Given the description of an element on the screen output the (x, y) to click on. 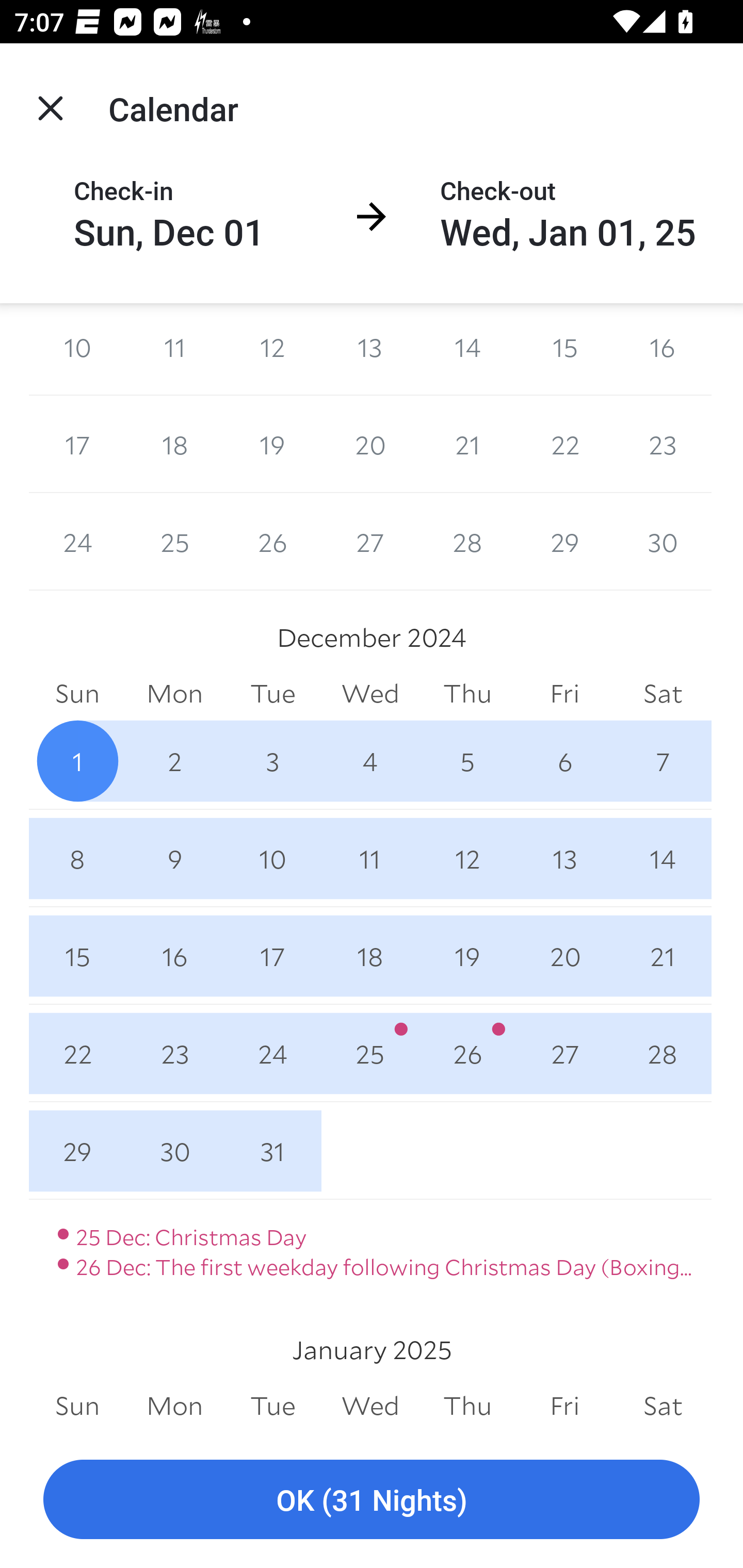
10 10 November 2024 (77, 348)
11 11 November 2024 (174, 348)
12 12 November 2024 (272, 348)
13 13 November 2024 (370, 348)
14 14 November 2024 (467, 348)
15 15 November 2024 (564, 348)
16 16 November 2024 (662, 348)
17 17 November 2024 (77, 443)
18 18 November 2024 (174, 443)
19 19 November 2024 (272, 443)
20 20 November 2024 (370, 443)
21 21 November 2024 (467, 443)
22 22 November 2024 (564, 443)
23 23 November 2024 (662, 443)
24 24 November 2024 (77, 541)
25 25 November 2024 (174, 541)
26 26 November 2024 (272, 541)
27 27 November 2024 (370, 541)
28 28 November 2024 (467, 541)
29 29 November 2024 (564, 541)
30 30 November 2024 (662, 541)
Sun (77, 693)
Mon (174, 693)
Tue (272, 693)
Wed (370, 693)
Thu (467, 693)
Fri (564, 693)
Sat (662, 693)
1 1 December 2024 (77, 760)
2 2 December 2024 (174, 760)
3 3 December 2024 (272, 760)
4 4 December 2024 (370, 760)
5 5 December 2024 (467, 760)
6 6 December 2024 (564, 760)
7 7 December 2024 (662, 760)
8 8 December 2024 (77, 858)
9 9 December 2024 (174, 858)
10 10 December 2024 (272, 858)
11 11 December 2024 (370, 858)
12 12 December 2024 (467, 858)
13 13 December 2024 (564, 858)
14 14 December 2024 (662, 858)
15 15 December 2024 (77, 956)
16 16 December 2024 (174, 956)
17 17 December 2024 (272, 956)
18 18 December 2024 (370, 956)
19 19 December 2024 (467, 956)
20 20 December 2024 (564, 956)
21 21 December 2024 (662, 956)
